Given the description of an element on the screen output the (x, y) to click on. 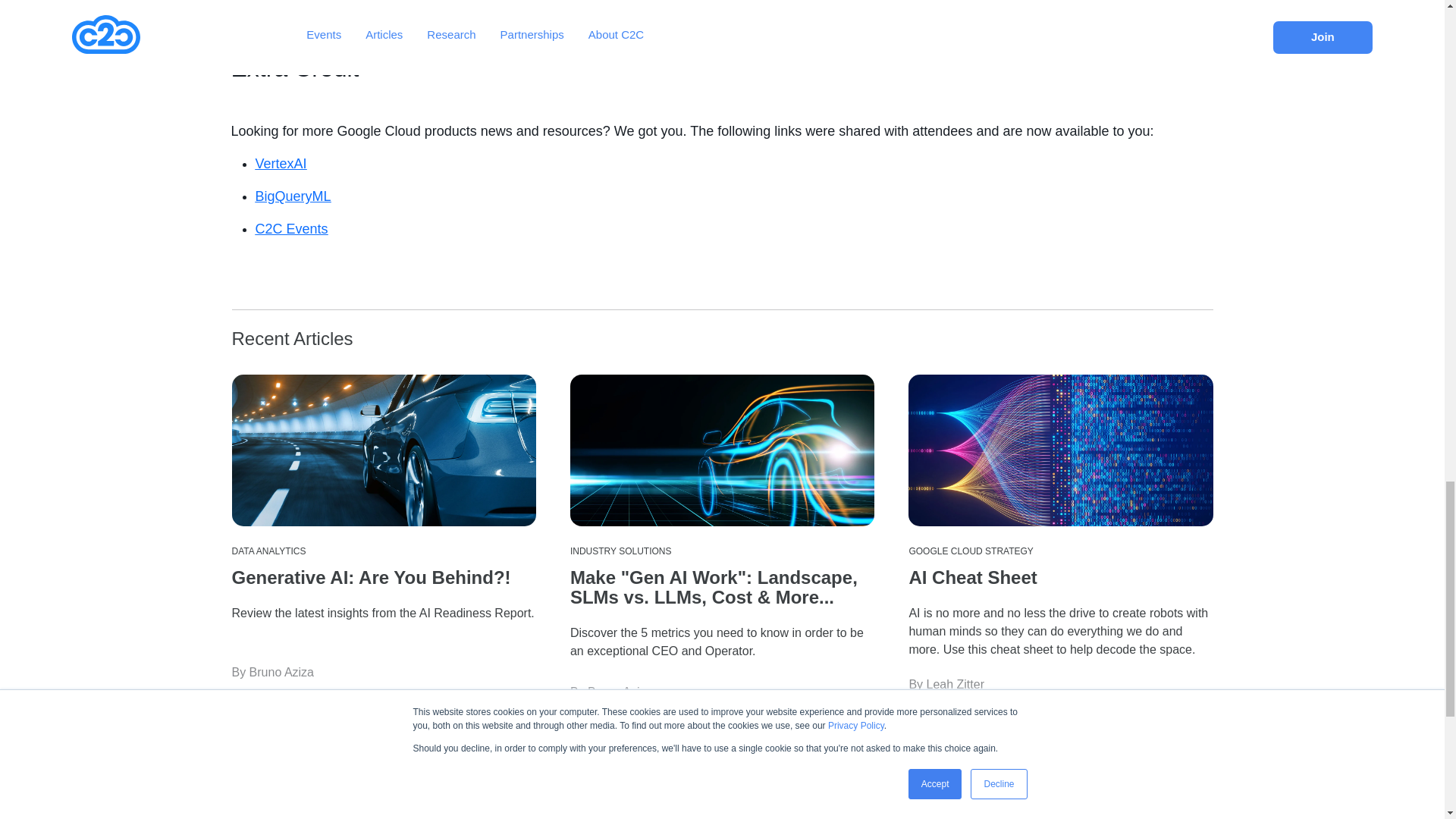
BigQueryML (292, 196)
INDUSTRY SOLUTIONS (620, 550)
AI Cheat Sheet (972, 577)
C2C Events (290, 228)
Generative AI: Are You Behind?! (371, 577)
GOOGLE CLOUD STRATEGY (970, 550)
VertexAI (279, 163)
be sure to sign up (640, 2)
DATA ANALYTICS (268, 550)
